Given the description of an element on the screen output the (x, y) to click on. 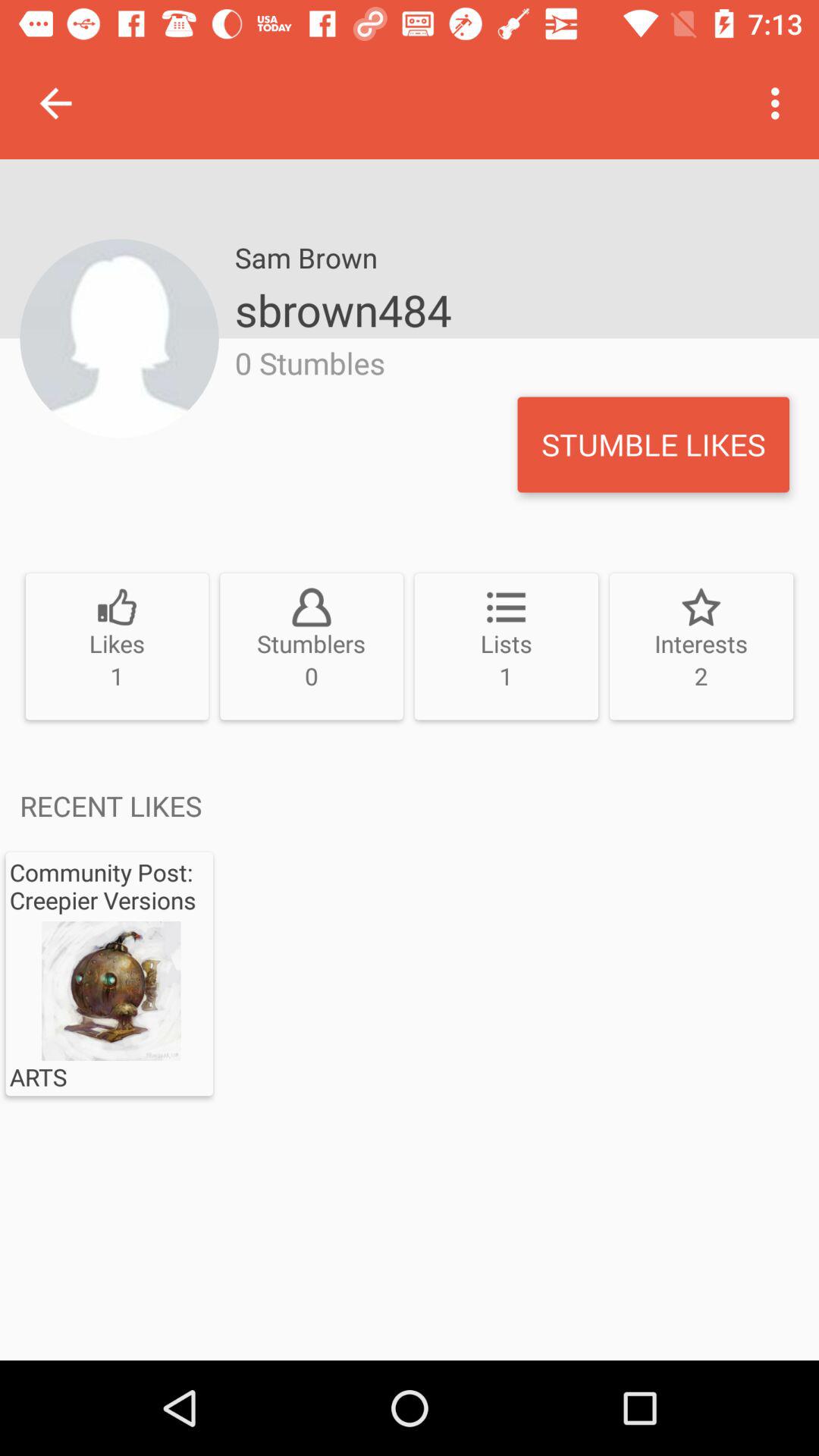
launch the item next to 0 stumbles icon (653, 444)
